Given the description of an element on the screen output the (x, y) to click on. 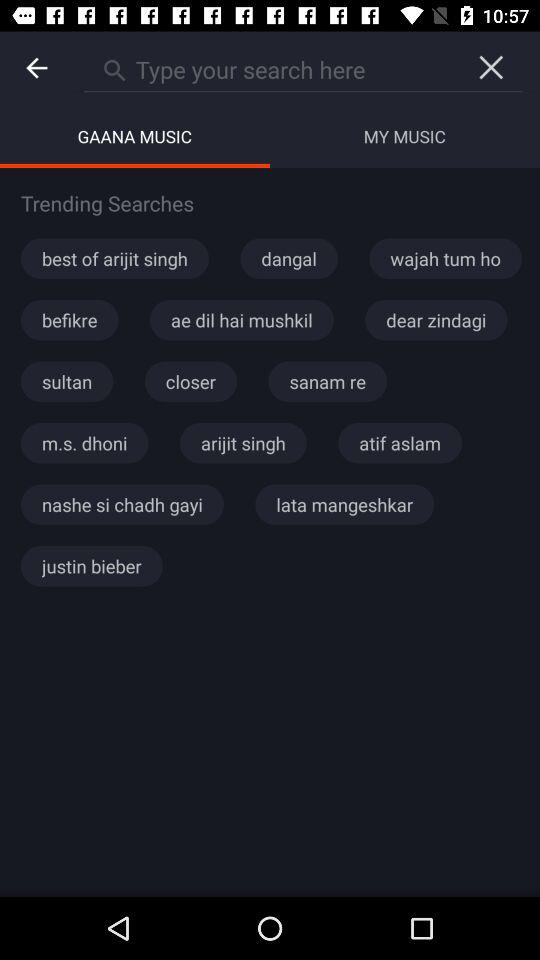
press the item below the trending searches item (114, 258)
